Given the description of an element on the screen output the (x, y) to click on. 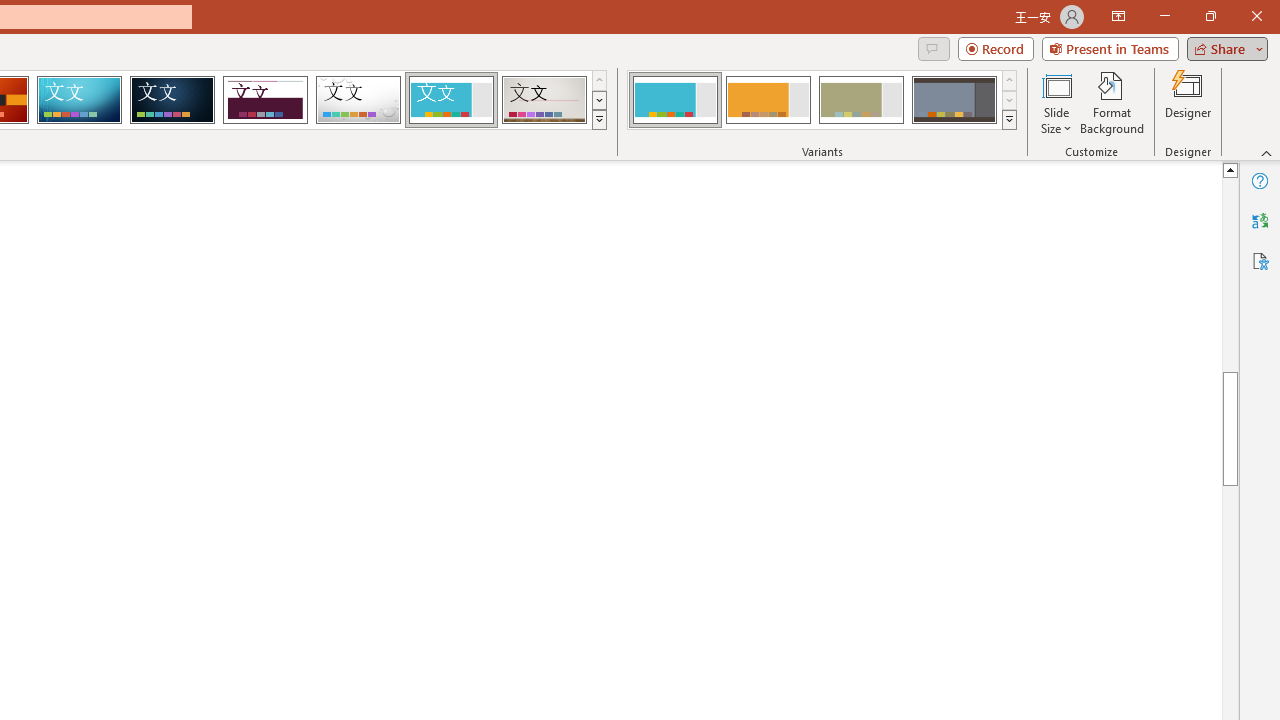
Circuit (79, 100)
Damask (171, 100)
Variants (1009, 120)
